Given the description of an element on the screen output the (x, y) to click on. 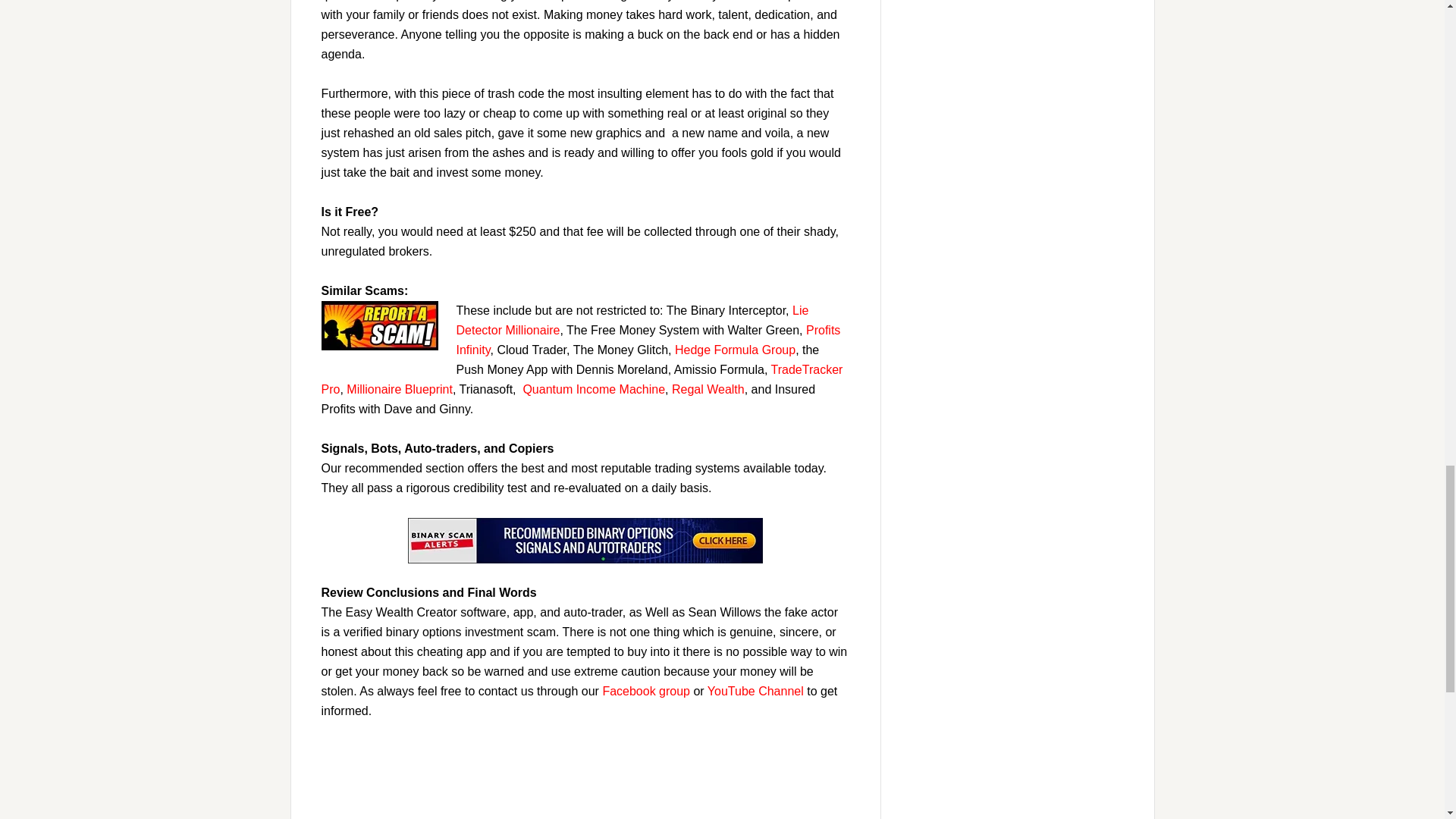
Recommended Systems (584, 540)
YouTube Channel (755, 690)
Lie Detector Millionaire (633, 319)
Trade (786, 369)
Millionaire Blueprint (399, 389)
Tracker Pro (582, 379)
Profits Infinity (649, 339)
Report a Scam (379, 325)
Quantum Income Machine (593, 389)
Hedge Formula Group (734, 349)
Facebook group (646, 690)
Regal Wealth (707, 389)
